Given the description of an element on the screen output the (x, y) to click on. 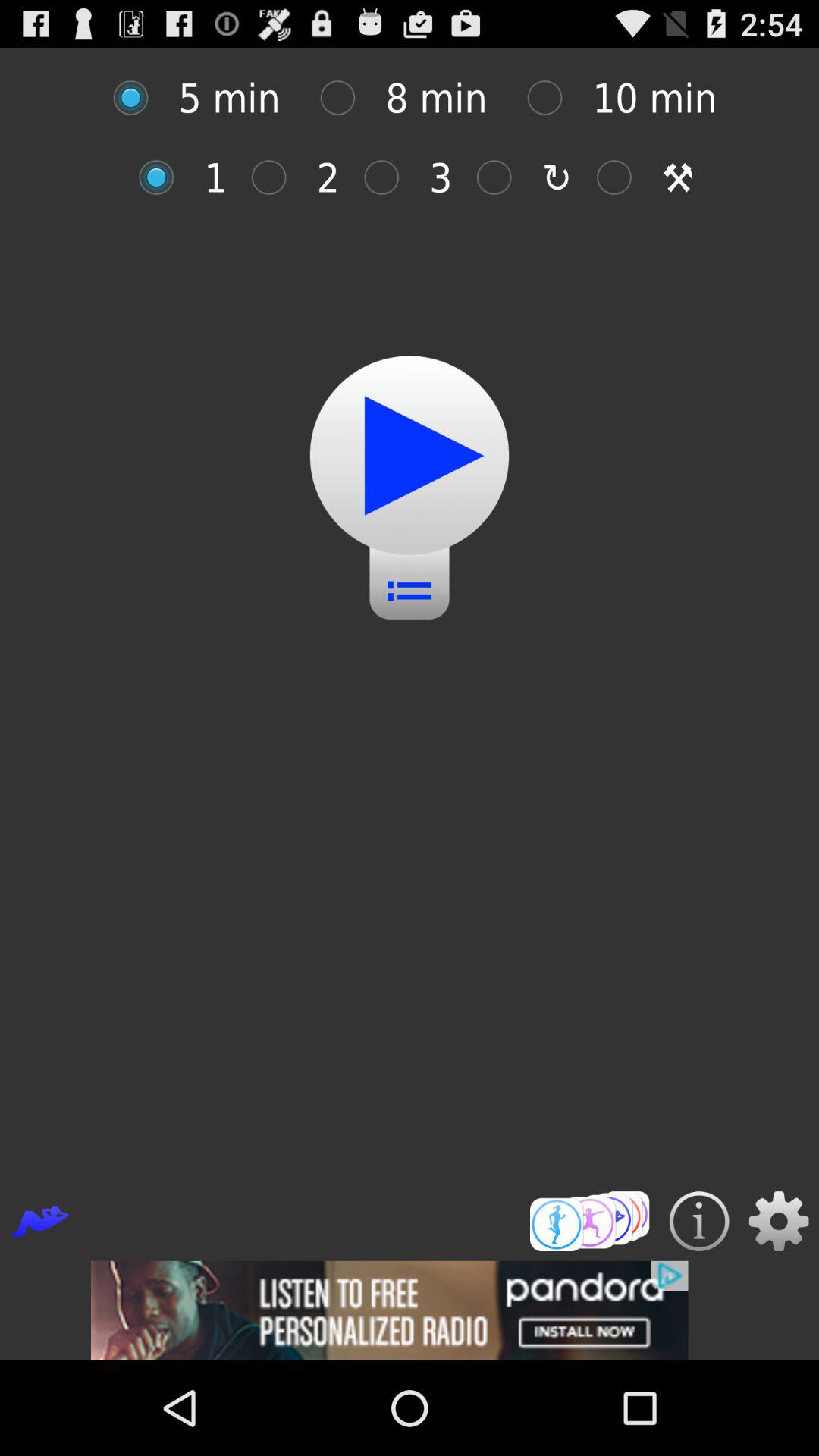
radio button (552, 97)
